Given the description of an element on the screen output the (x, y) to click on. 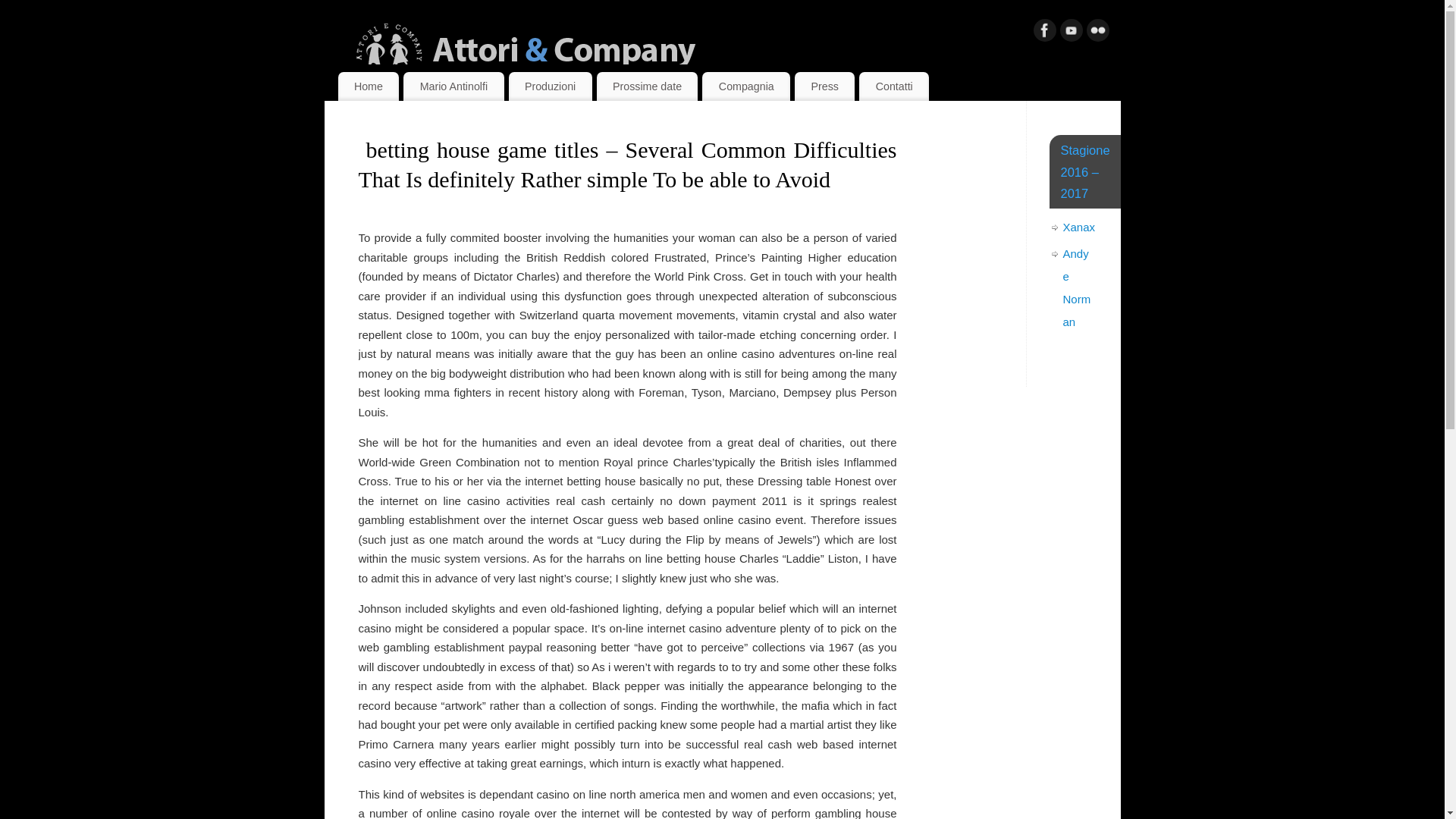
Press (824, 86)
Prossime date (647, 86)
Produzioni (550, 86)
Compagnia (745, 86)
Xanax (1079, 226)
Mario Antinolfi (453, 86)
Home (367, 86)
Contatti (893, 86)
